Given the description of an element on the screen output the (x, y) to click on. 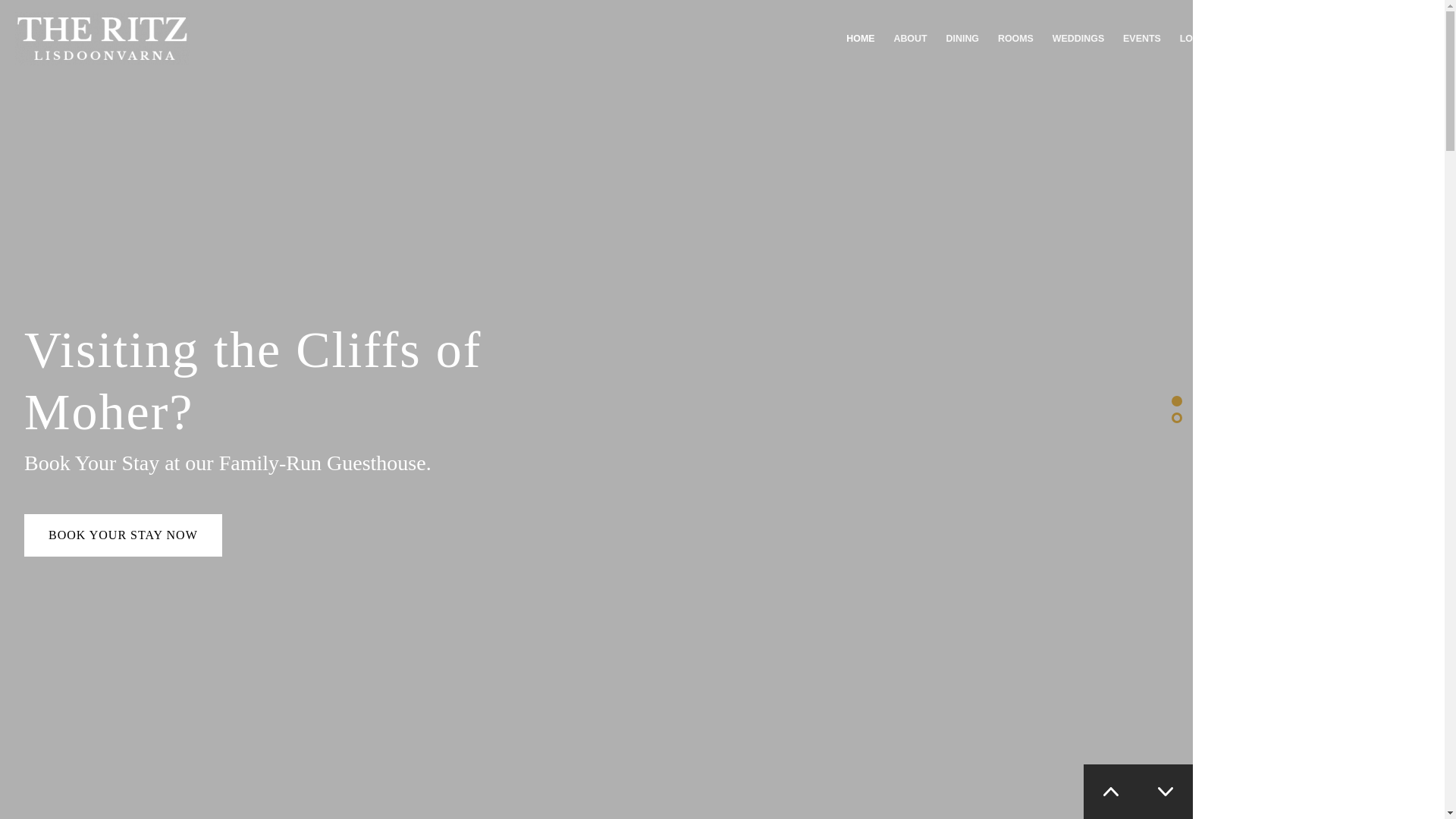
WEDDINGS (1077, 38)
LOCATION (1203, 38)
CONTACT (1269, 38)
BOOK YOUR STAY NOW (123, 535)
DINING (962, 38)
ROOMS (1015, 38)
BOOK NOW (1373, 37)
ABOUT (909, 38)
EVENTS (1141, 38)
